Given the description of an element on the screen output the (x, y) to click on. 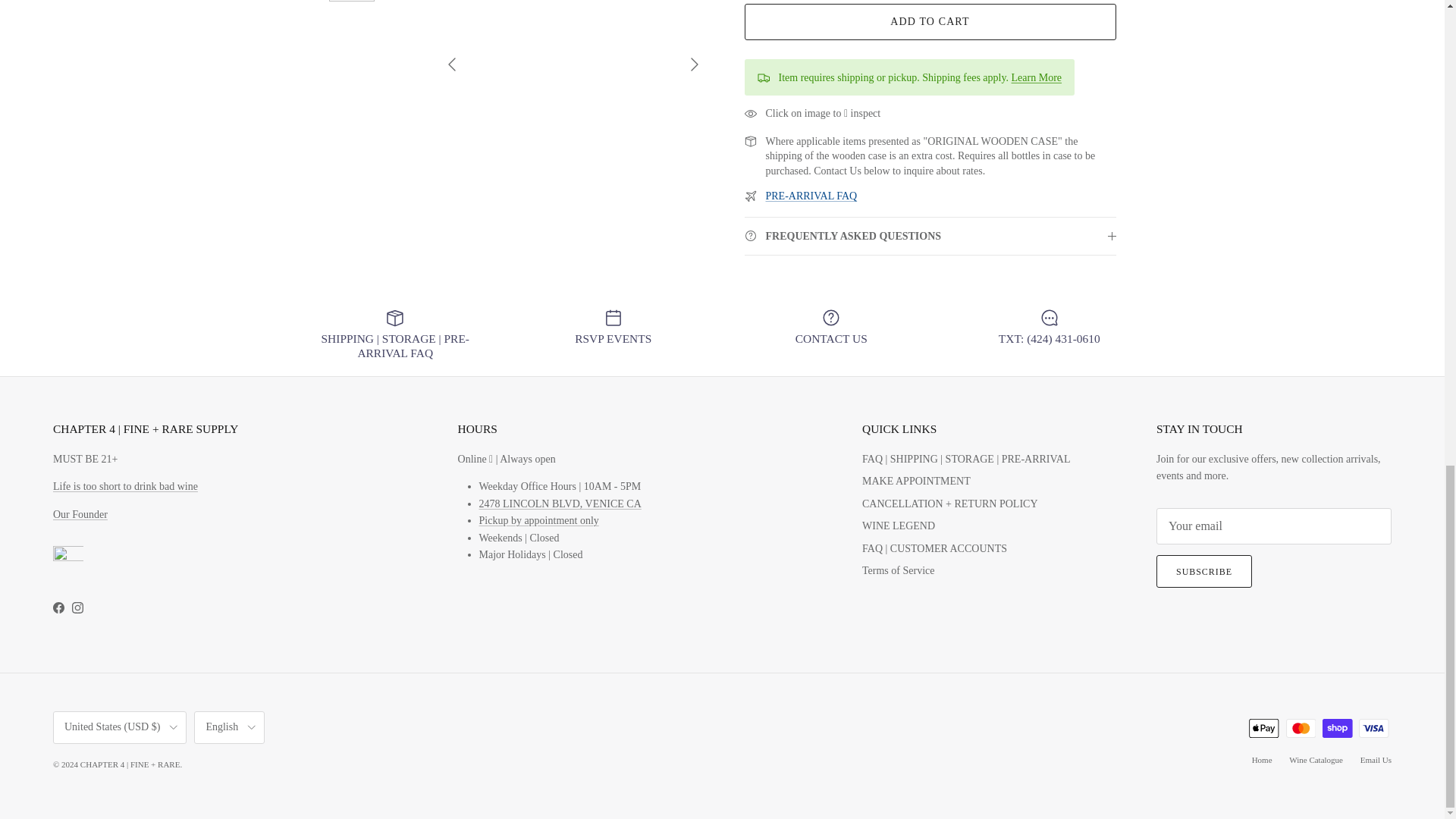
All collections (125, 486)
CURRENT SHIPPING PROMOTIONS (1036, 39)
CURRENT SHIPPING PROMOTIONS (811, 157)
About Scott (79, 514)
